Given the description of an element on the screen output the (x, y) to click on. 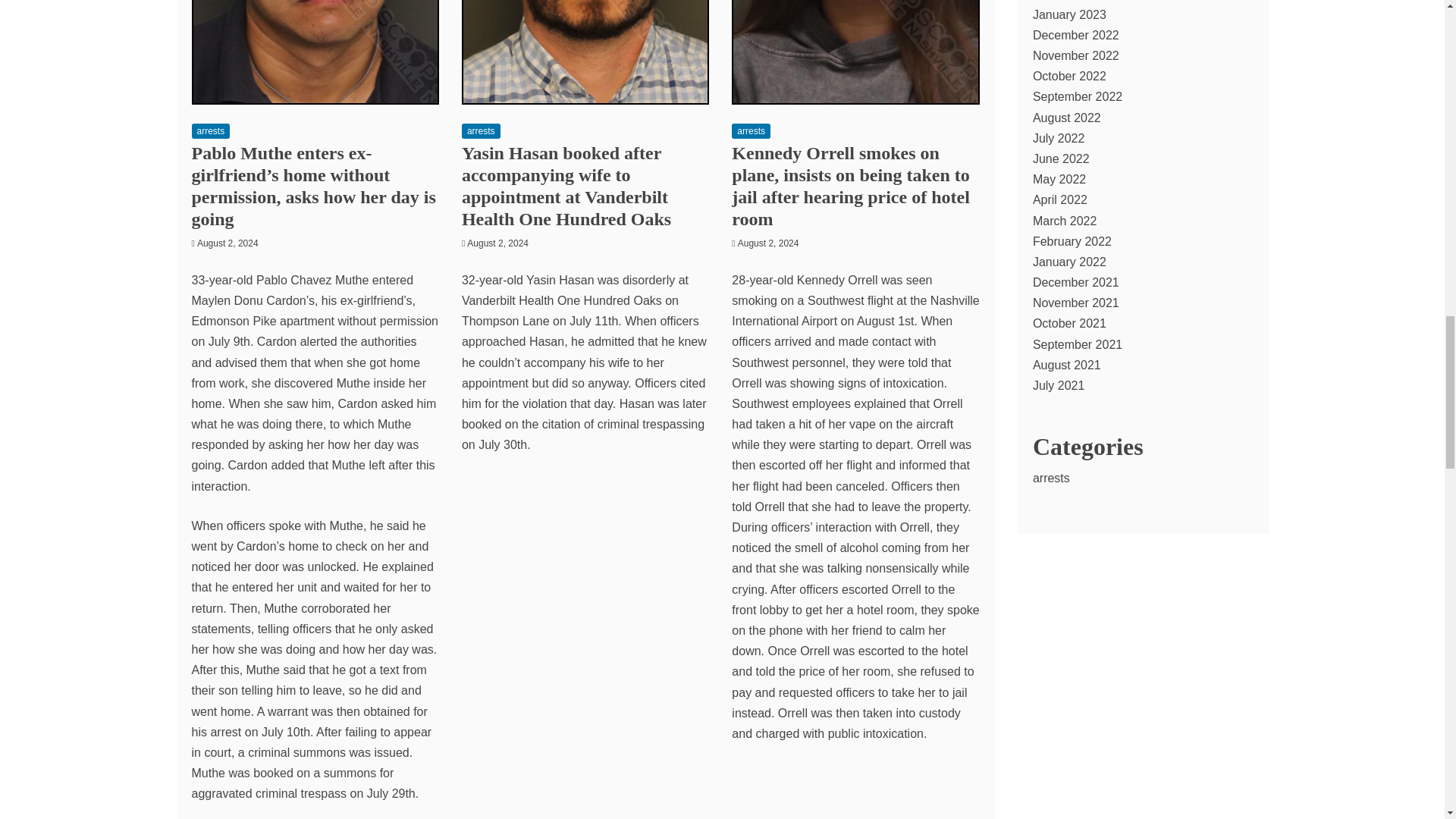
August 2, 2024 (227, 243)
arrests (210, 130)
arrests (480, 130)
August 2, 2024 (497, 243)
August 2, 2024 (768, 243)
arrests (751, 130)
